Given the description of an element on the screen output the (x, y) to click on. 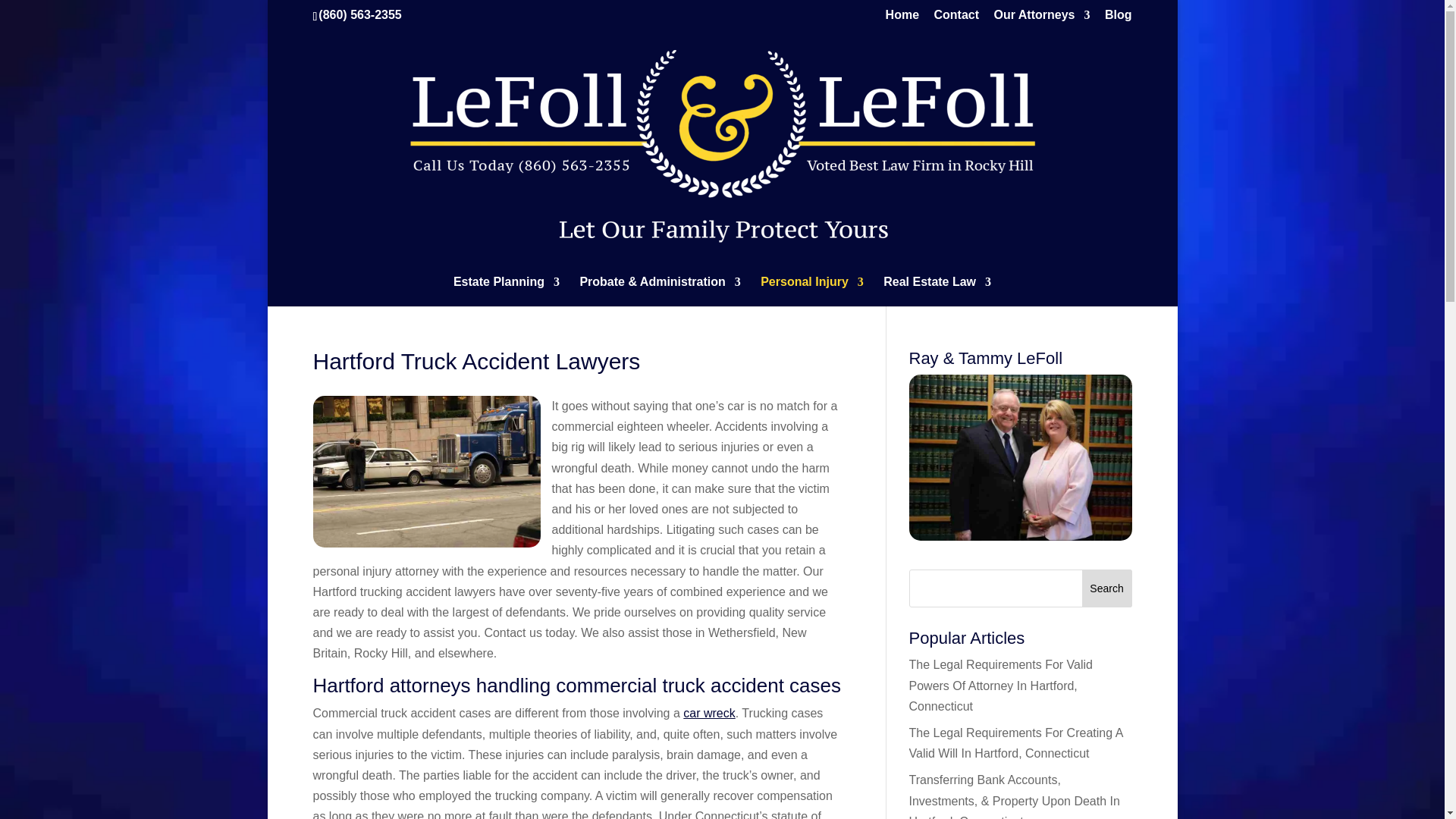
Home (901, 19)
Search (1106, 588)
Estate Planning (505, 291)
Real Estate Law (937, 291)
Our Attorneys (1042, 19)
Personal Injury (811, 291)
Blog (1118, 19)
Contact (956, 19)
